Given the description of an element on the screen output the (x, y) to click on. 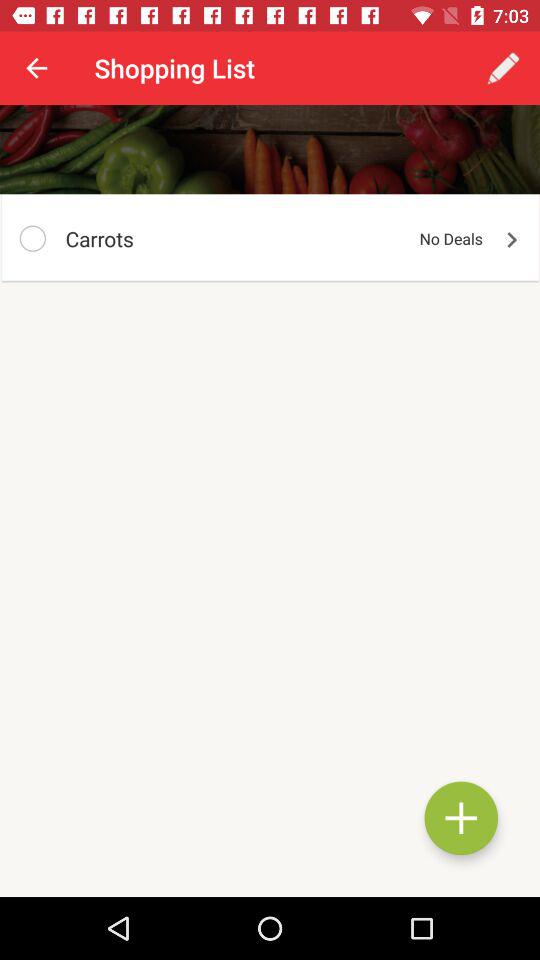
add item (461, 818)
